Given the description of an element on the screen output the (x, y) to click on. 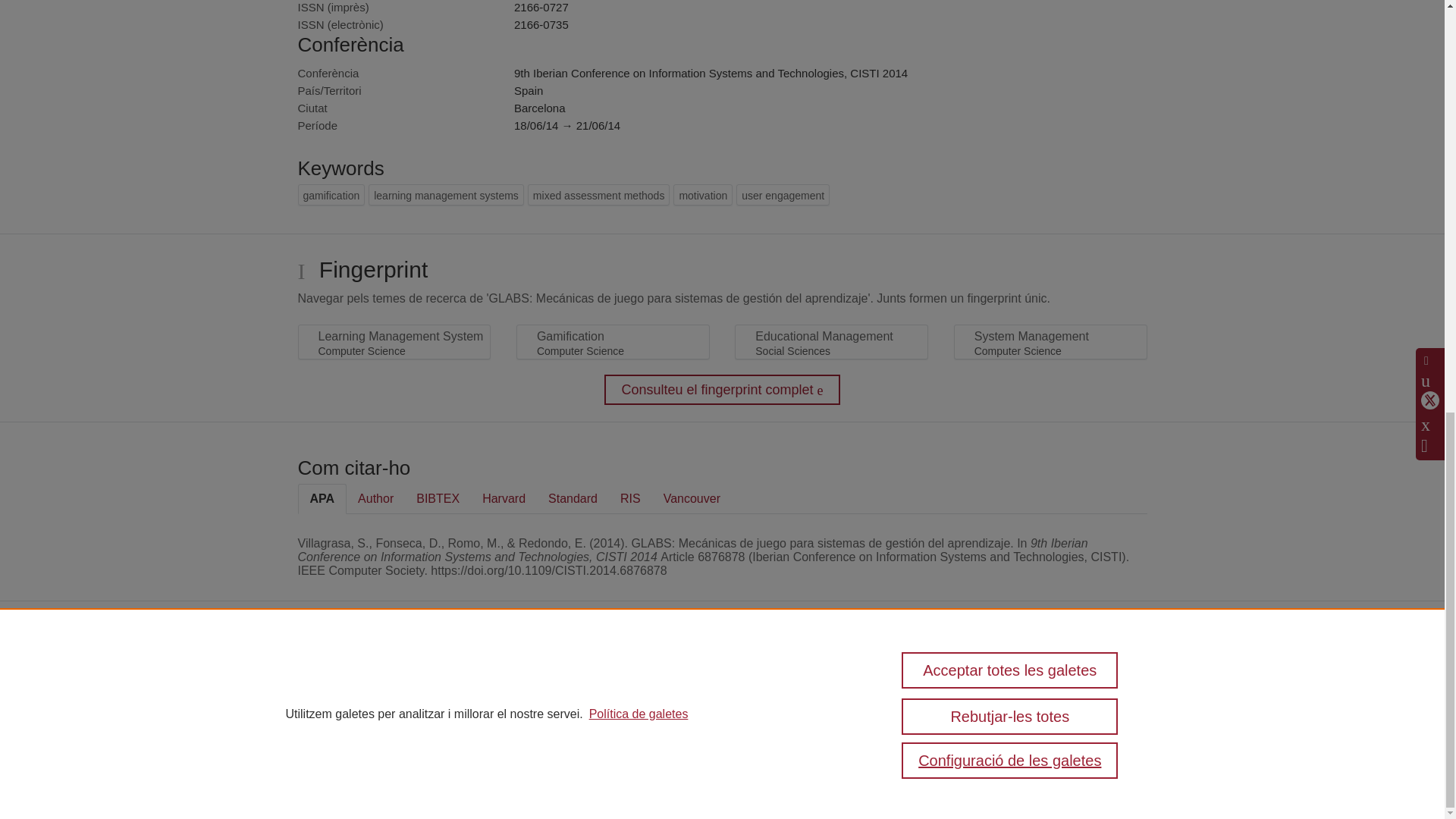
Elsevier B.V. (534, 696)
Pure (365, 676)
Consulteu el fingerprint complet (722, 389)
Scopus (396, 676)
